Given the description of an element on the screen output the (x, y) to click on. 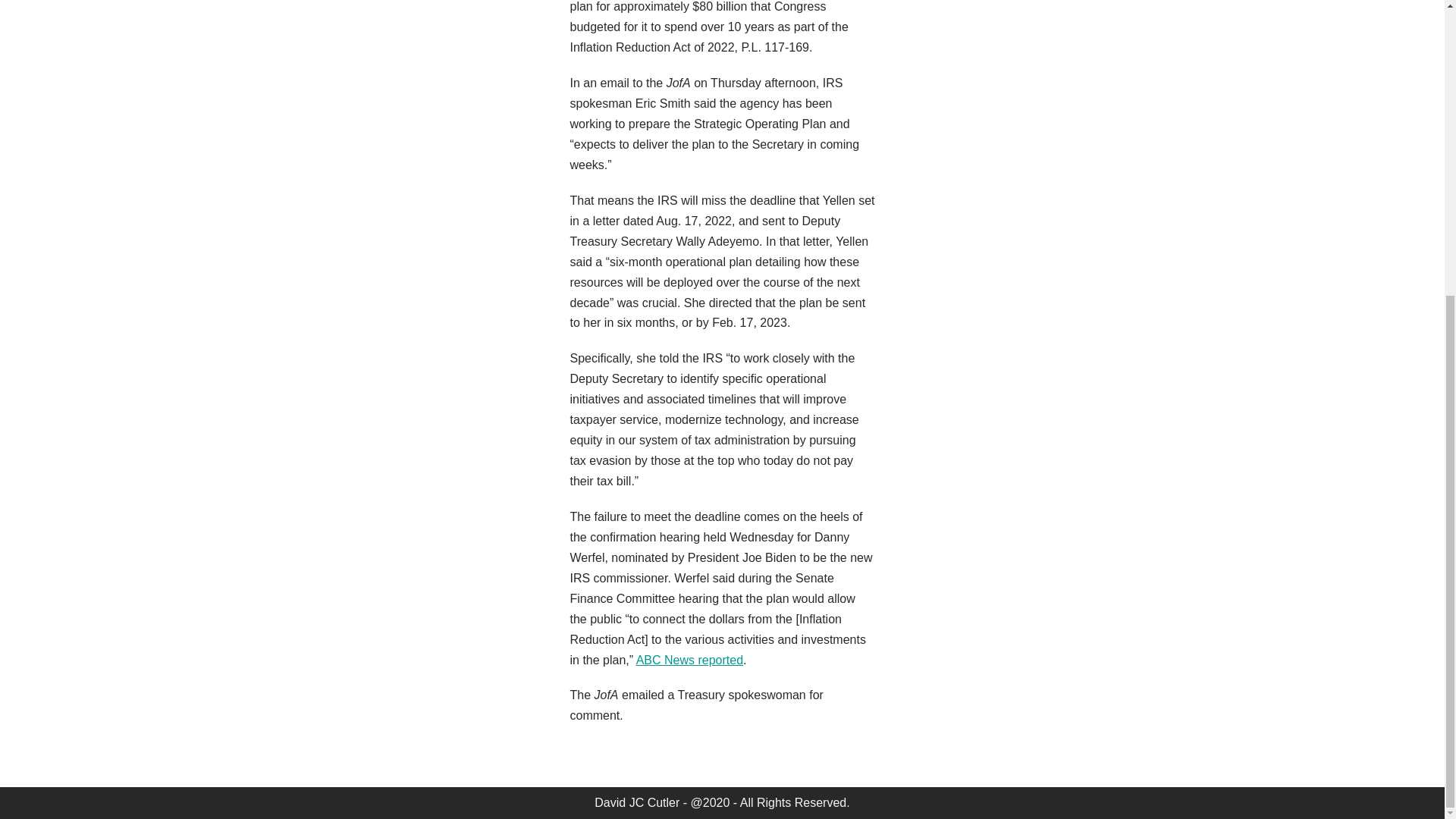
ABC News reported (689, 659)
